Given the description of an element on the screen output the (x, y) to click on. 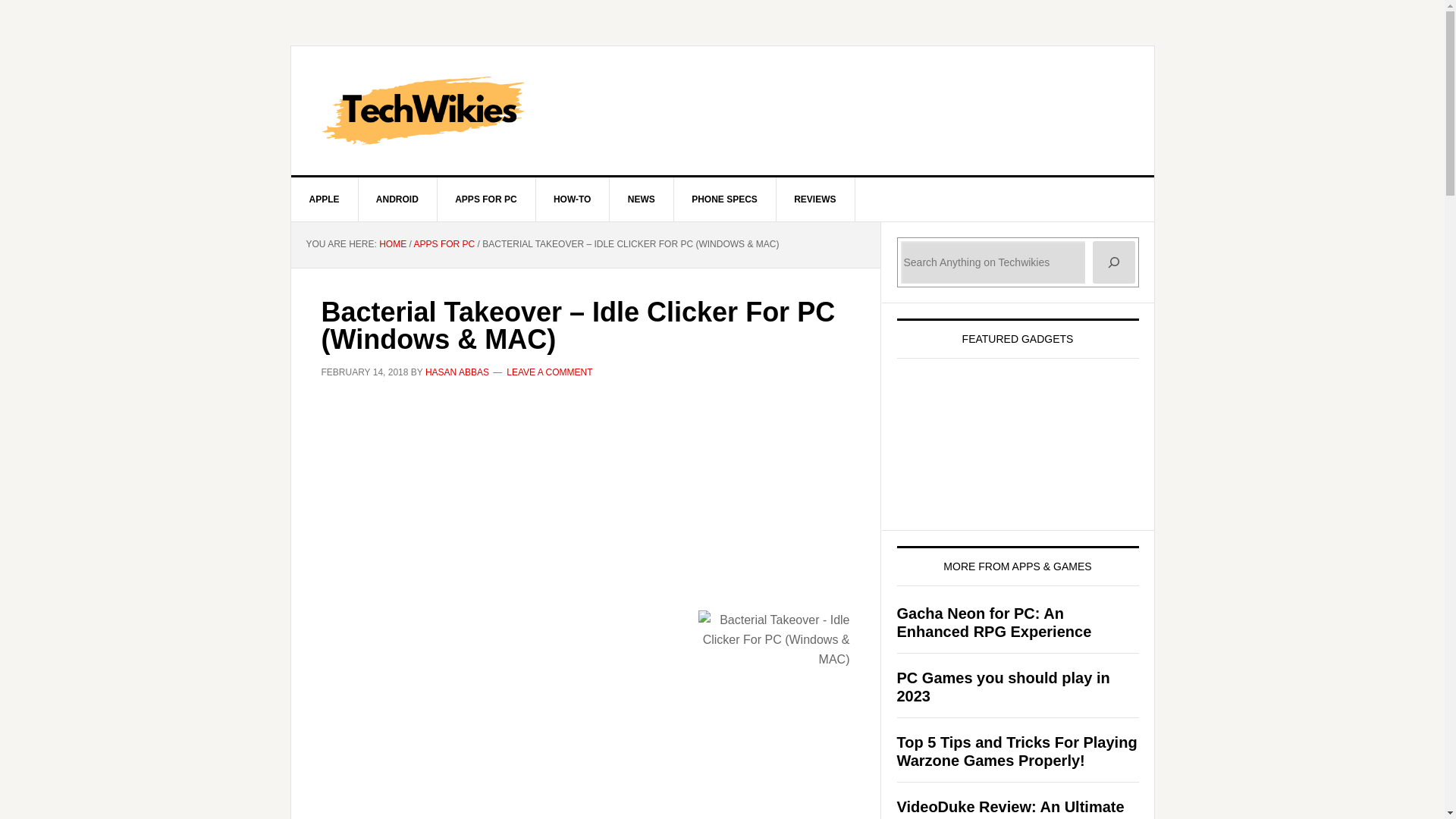
TECHWIKIES.COM (722, 110)
LEAVE A COMMENT (549, 371)
HASAN ABBAS (457, 371)
NEWS (642, 199)
HOW-TO (572, 199)
APPLE (324, 199)
PHONE SPECS (724, 199)
APPS FOR PC (485, 199)
HOME (392, 244)
